Given the description of an element on the screen output the (x, y) to click on. 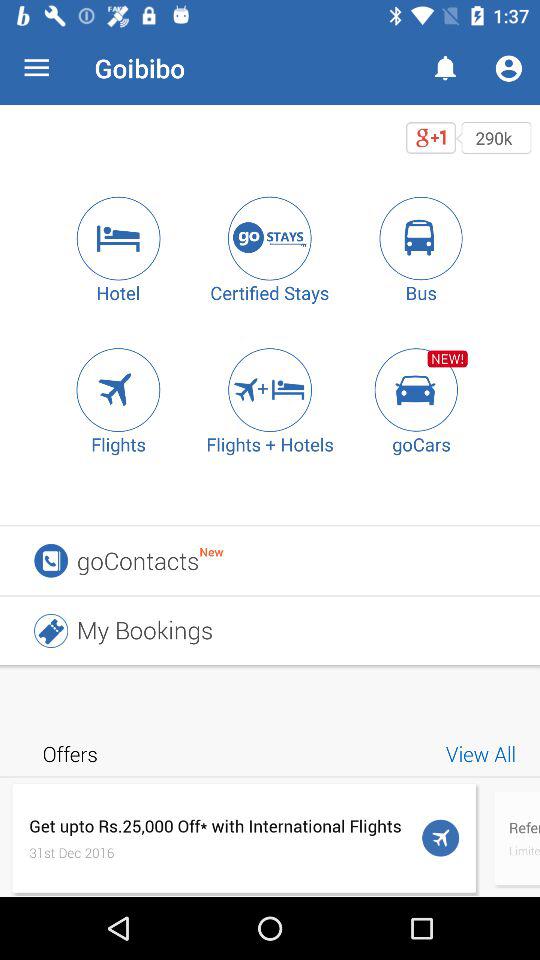
click on bus (421, 238)
